Given the description of an element on the screen output the (x, y) to click on. 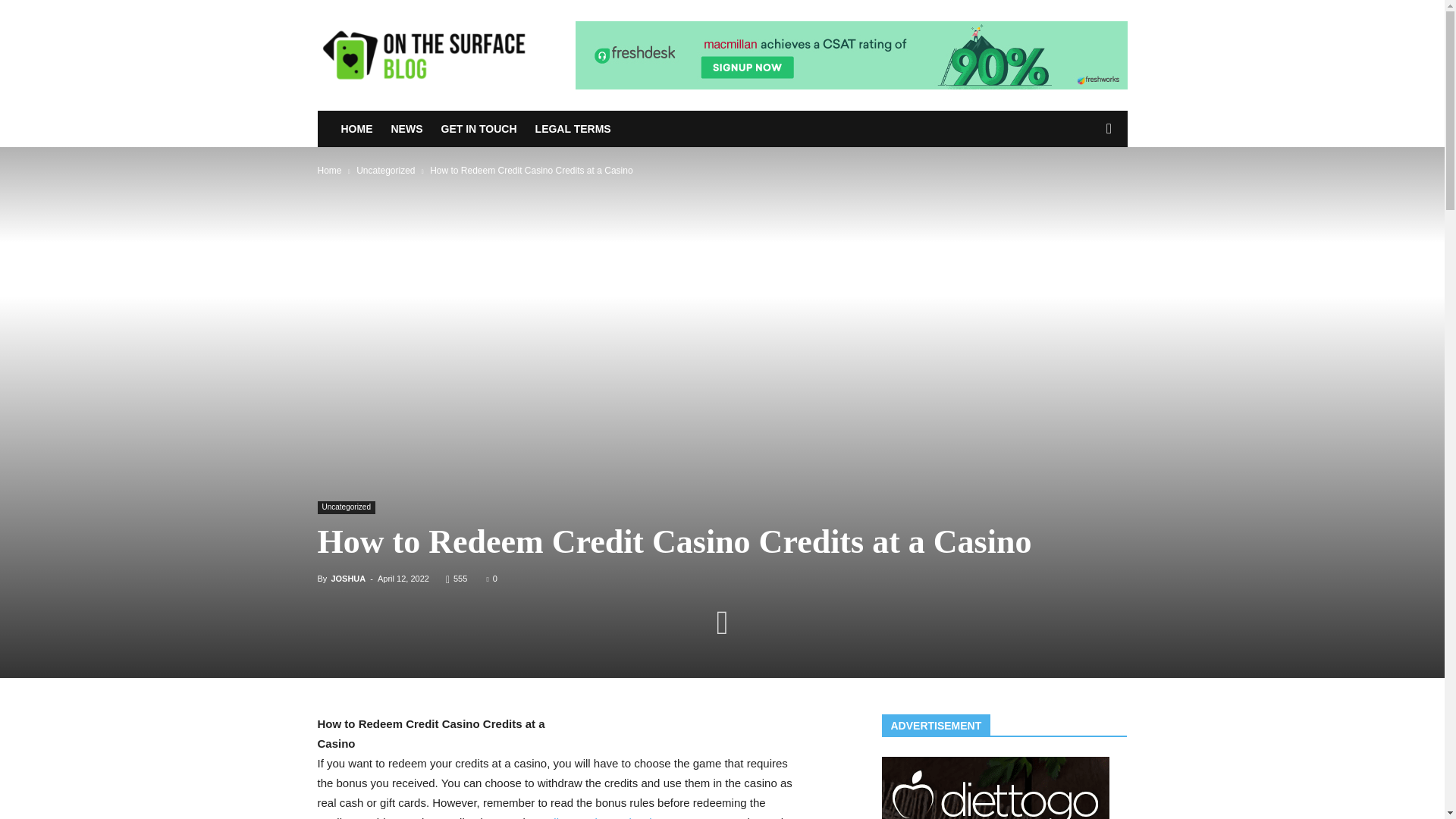
LEGAL TERMS (574, 128)
GET IN TOUCH (480, 128)
Home (328, 170)
NEWS (408, 128)
JOSHUA (347, 578)
Search (1085, 189)
Online Casino Malaysia (598, 817)
HOME (358, 128)
0 (491, 578)
Uncategorized (345, 507)
